Given the description of an element on the screen output the (x, y) to click on. 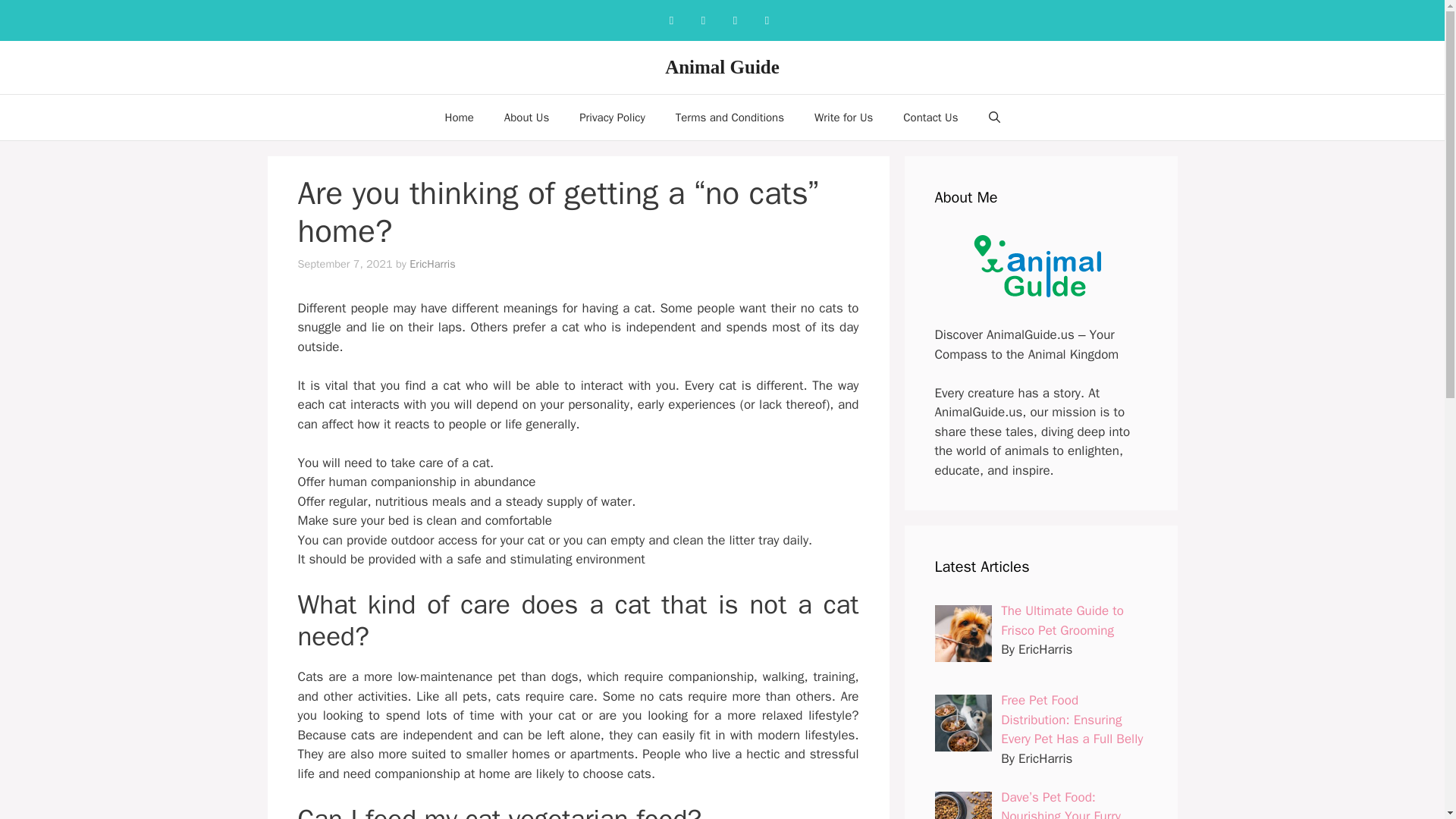
The Ultimate Guide to Frisco Pet Grooming (1062, 620)
About Us (526, 117)
EricHarris (432, 264)
Facebook (671, 20)
View all posts by EricHarris (432, 264)
Terms and Conditions (730, 117)
Pinterest (735, 20)
Contact Us (930, 117)
Privacy Policy (612, 117)
Twitter (766, 20)
Write for Us (843, 117)
Instagram (703, 20)
Animal Guide (721, 66)
Home (458, 117)
